Given the description of an element on the screen output the (x, y) to click on. 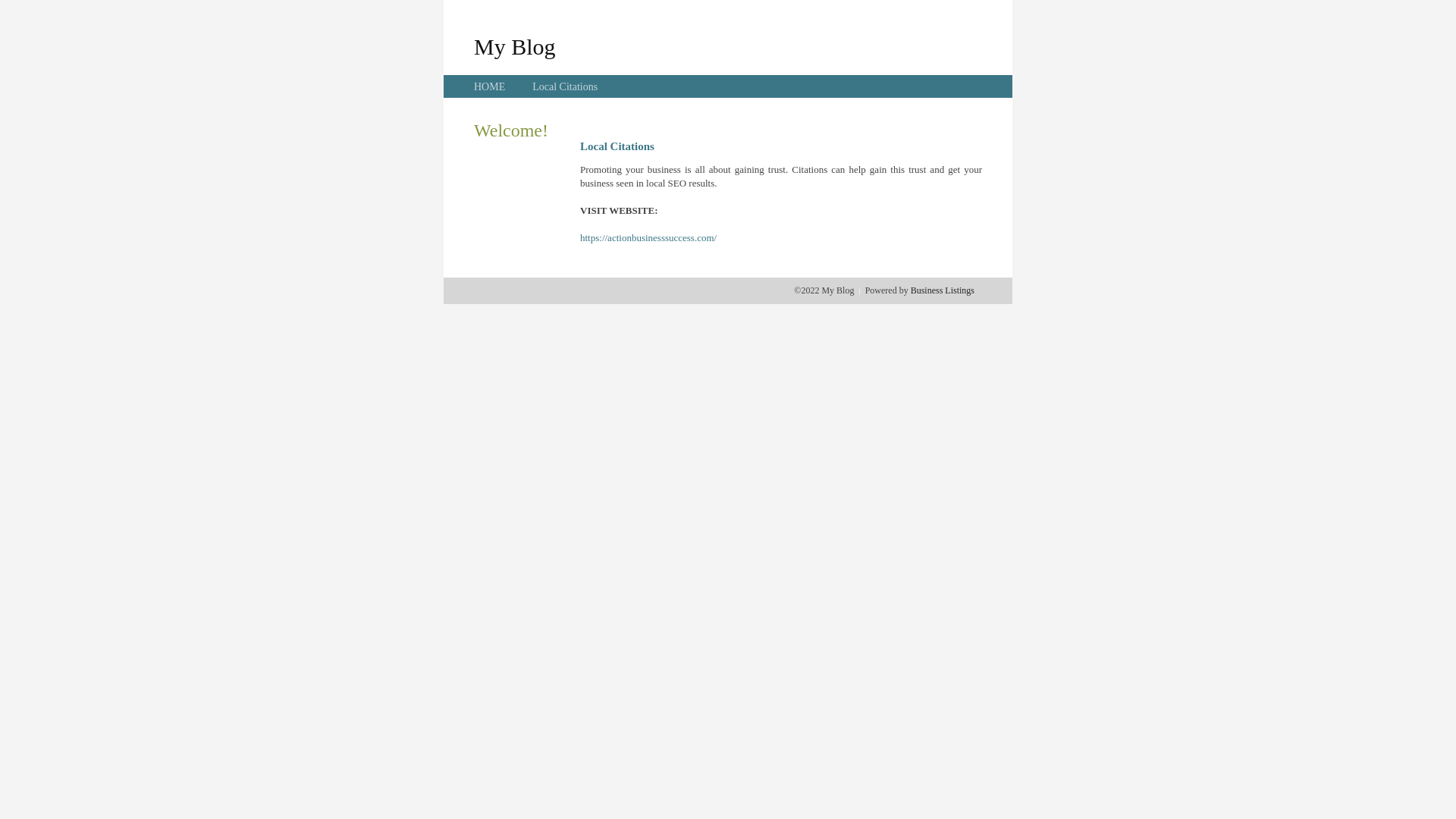
https://actionbusinesssuccess.com/ Element type: text (648, 237)
Business Listings Element type: text (942, 290)
HOME Element type: text (489, 86)
Local Citations Element type: text (564, 86)
My Blog Element type: text (514, 46)
